Given the description of an element on the screen output the (x, y) to click on. 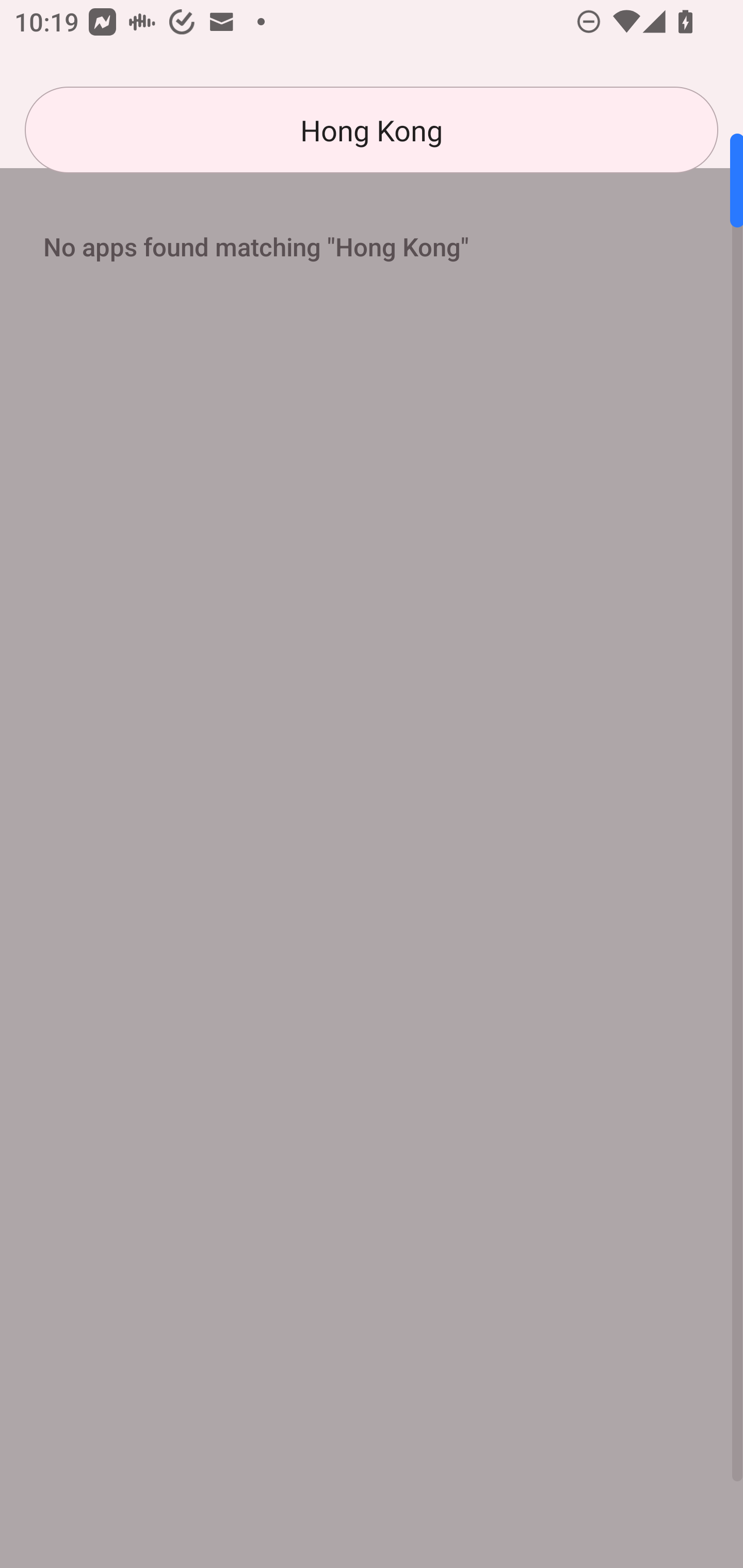
Hong Kong (371, 130)
